Given the description of an element on the screen output the (x, y) to click on. 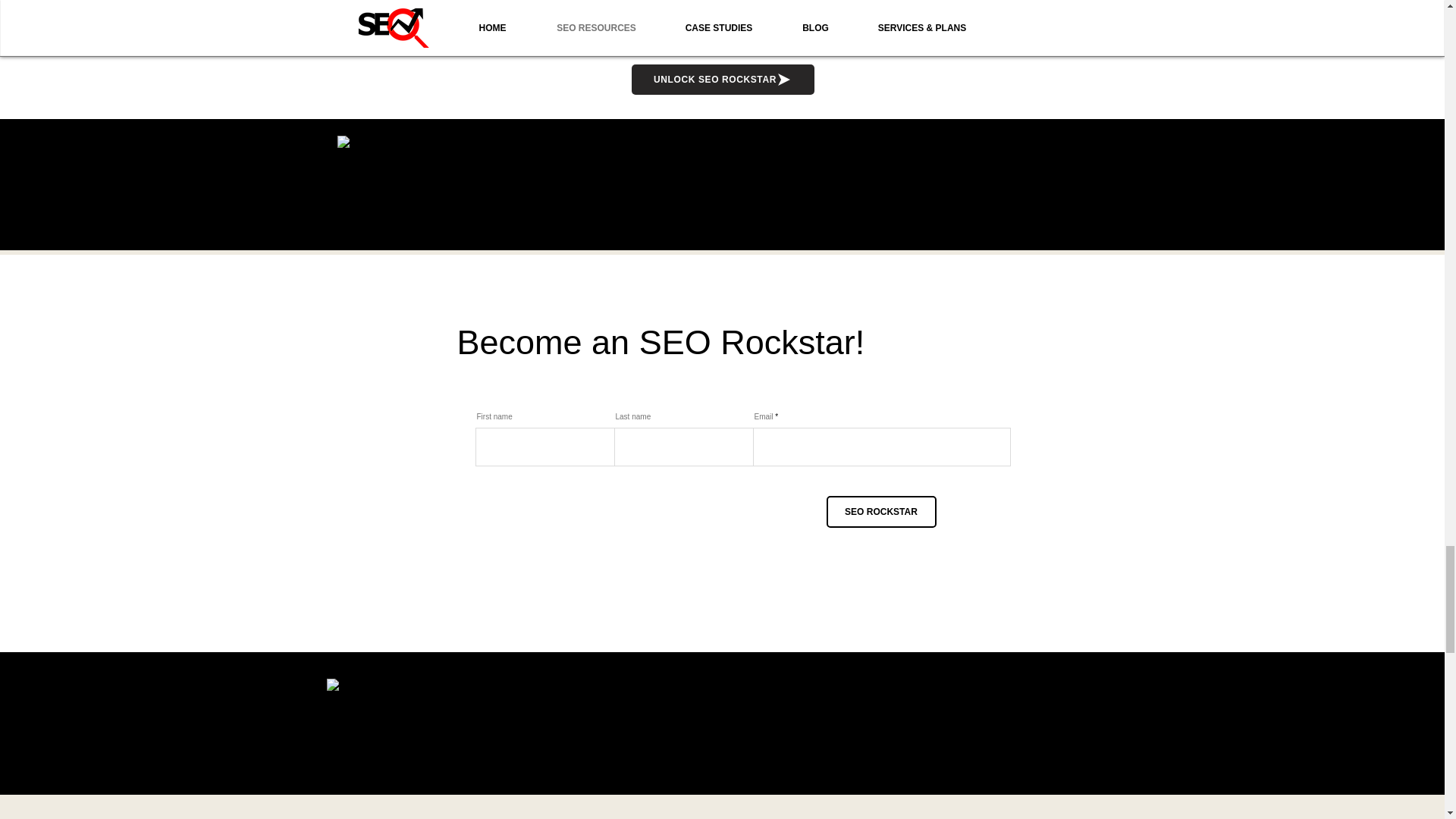
UNLOCK SEO ROCKSTAR (721, 79)
SEO ROCKSTAR (881, 511)
